Given the description of an element on the screen output the (x, y) to click on. 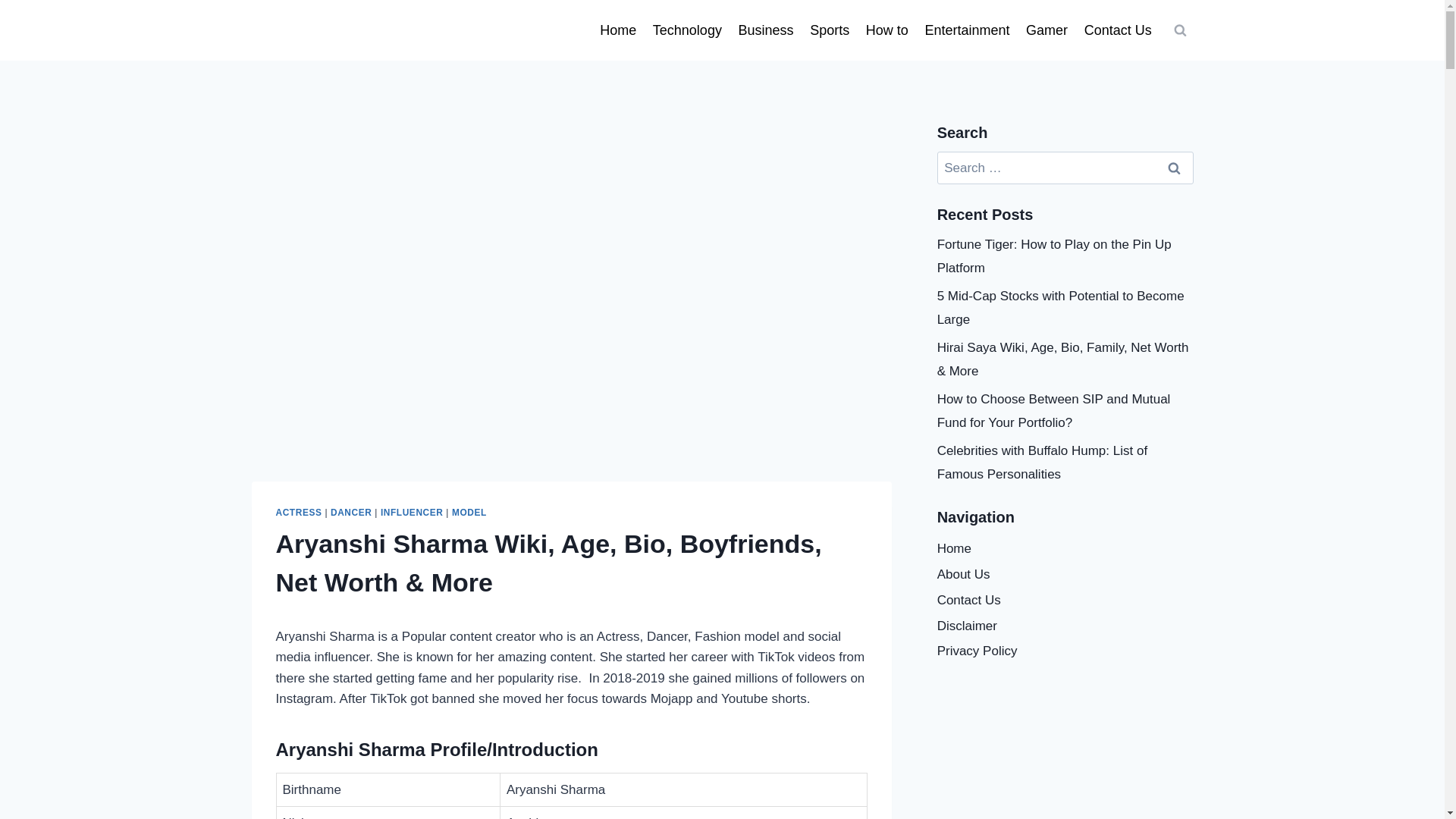
INFLUENCER (412, 511)
Business (766, 30)
ACTRESS (298, 511)
Gamer (1046, 30)
MODEL (468, 511)
Technology (687, 30)
Entertainment (967, 30)
How to (887, 30)
Home (618, 30)
DMCA.com Protection Status (1065, 740)
Search (1174, 167)
Contact Us (1117, 30)
Search (1174, 167)
Sports (829, 30)
DANCER (350, 511)
